Given the description of an element on the screen output the (x, y) to click on. 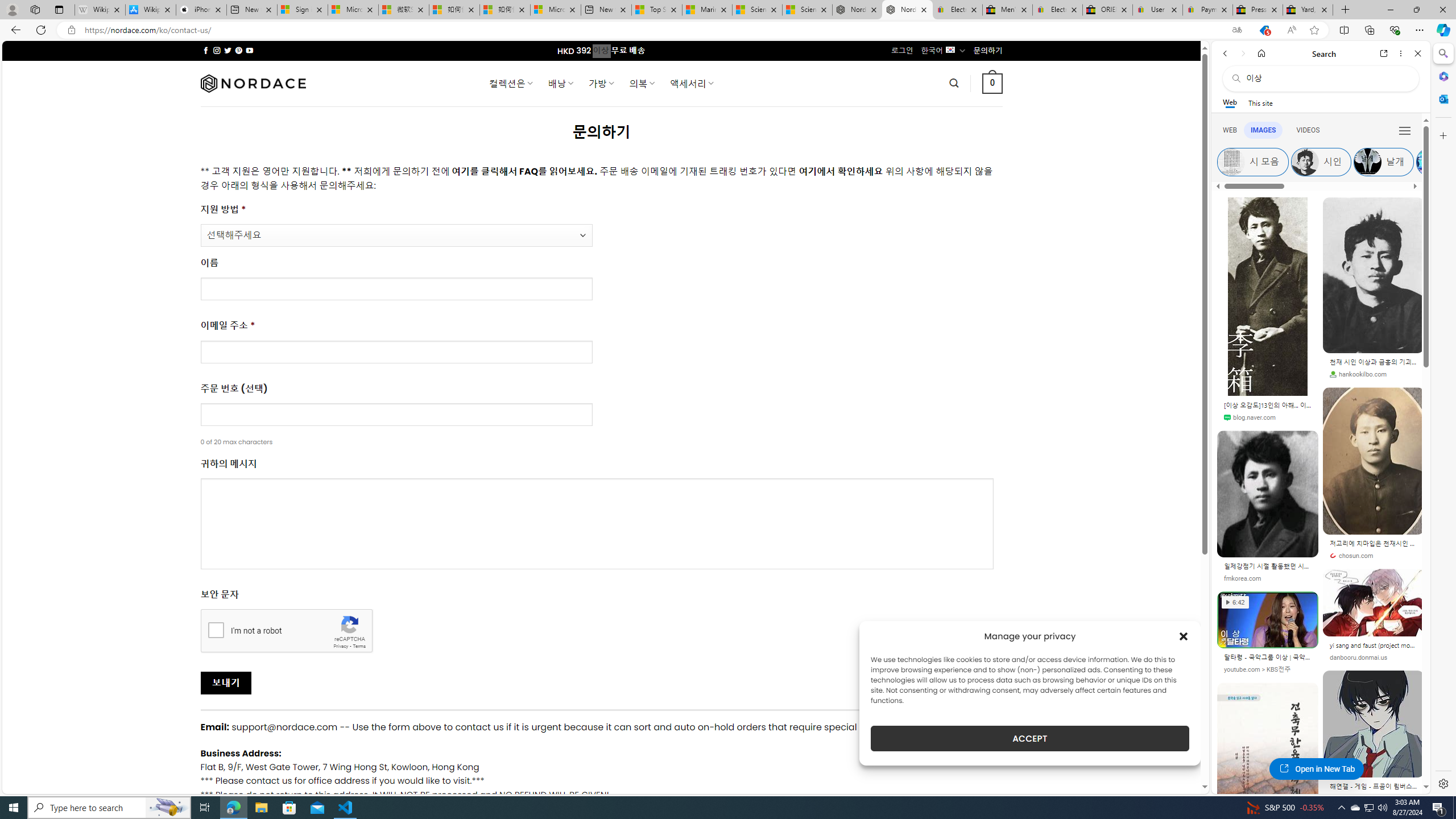
blog.naver.com (1267, 417)
chosun.com (1351, 555)
hankookilbo.com (1358, 374)
danbooru.donmai.us (1358, 657)
